Given the description of an element on the screen output the (x, y) to click on. 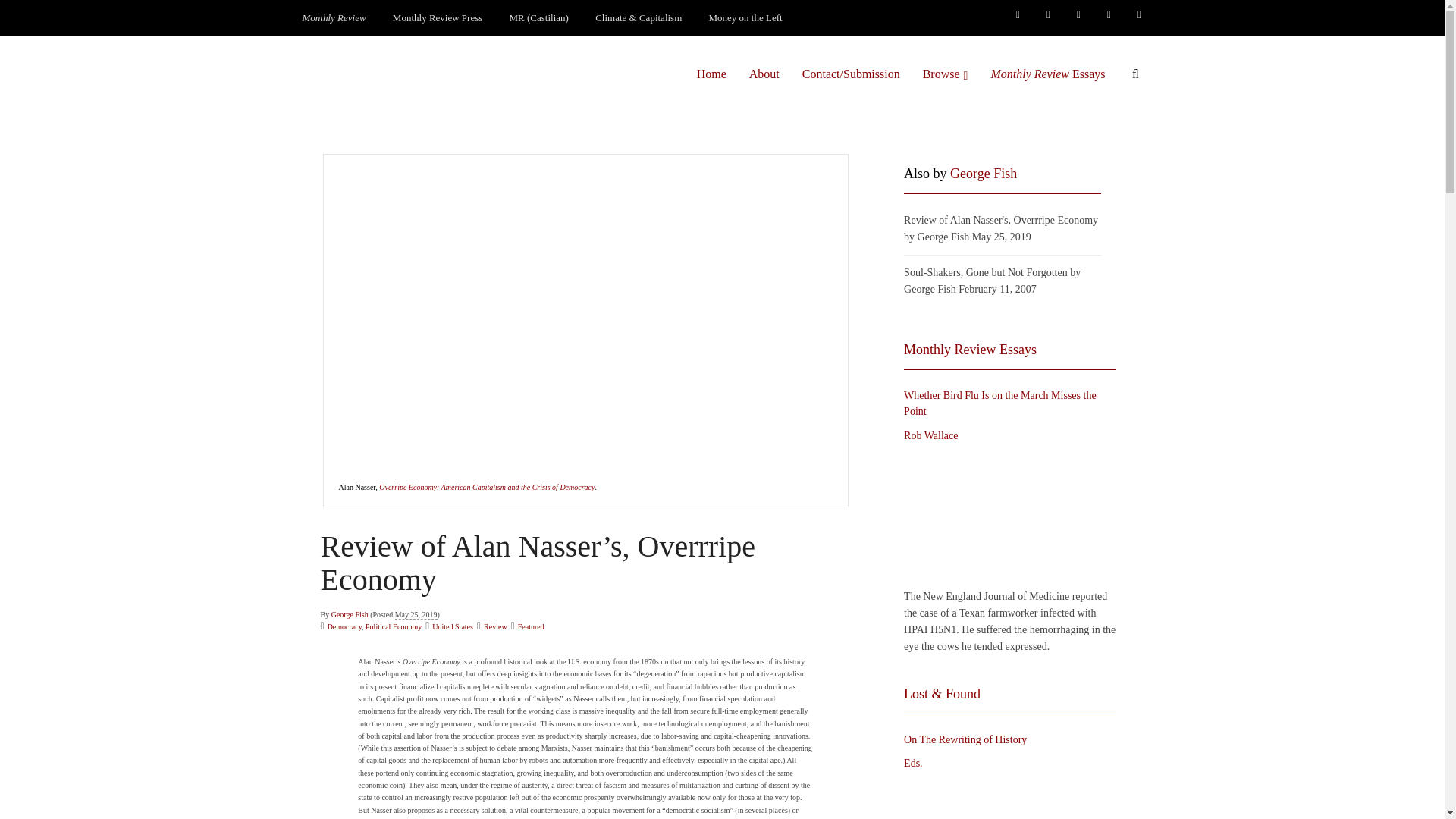
Home (711, 74)
Browse (945, 74)
Monthly Review Magazine (333, 18)
Money on the Left (745, 18)
Home (711, 74)
Whether Bird Flu Is on the March Misses the Point (1006, 515)
Monthly Review Press (437, 18)
Posts by Rob Wallace (931, 435)
Posts by Eds. (913, 763)
Monthly Review (333, 18)
On The Rewriting of History (1006, 797)
About (764, 74)
